Given the description of an element on the screen output the (x, y) to click on. 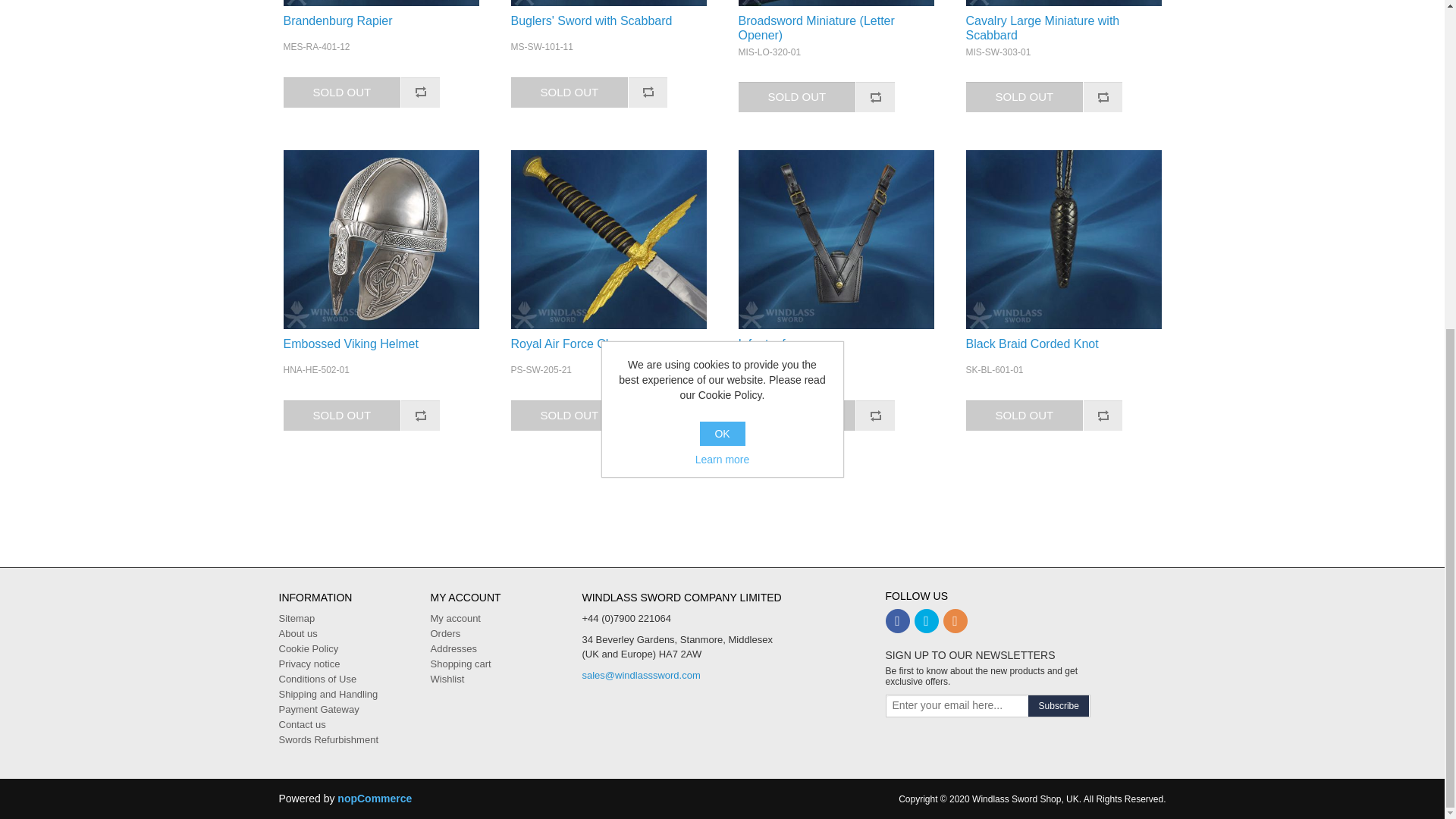
Brandenburg Rapier (381, 2)
Add to compare list (875, 96)
Sold Out (569, 91)
Add to compare list (419, 91)
Sold Out (569, 415)
Add to compare list (1102, 96)
Buglers' Sword with Scabbard (608, 20)
Sold Out (342, 91)
Cavalry Large Miniature with Scabbard (1063, 2)
Embossed Viking Helmet (381, 239)
